Given the description of an element on the screen output the (x, y) to click on. 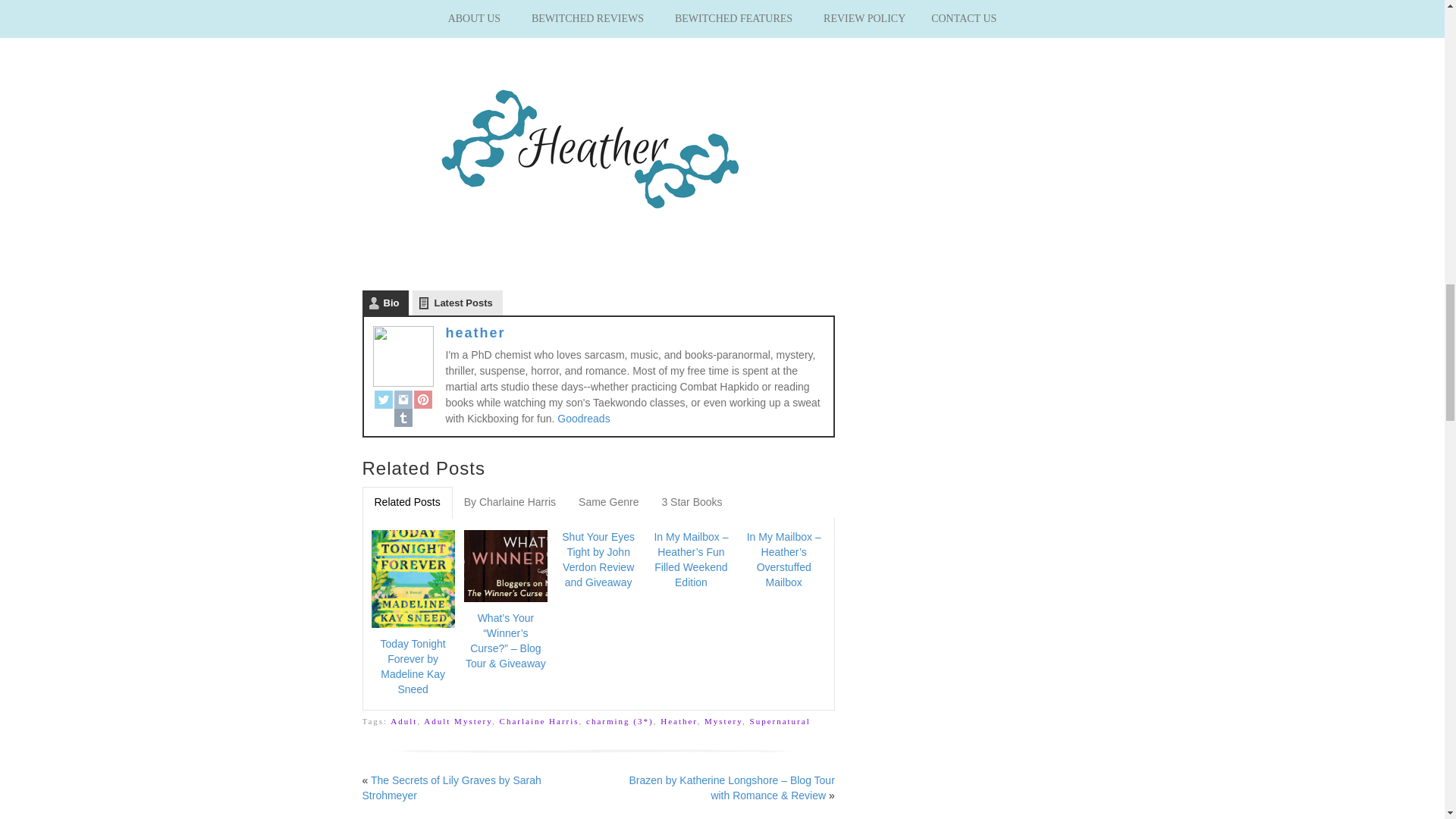
Pinterest (422, 399)
Instagram (403, 399)
Twitter (383, 399)
Tumblr (403, 417)
